Given the description of an element on the screen output the (x, y) to click on. 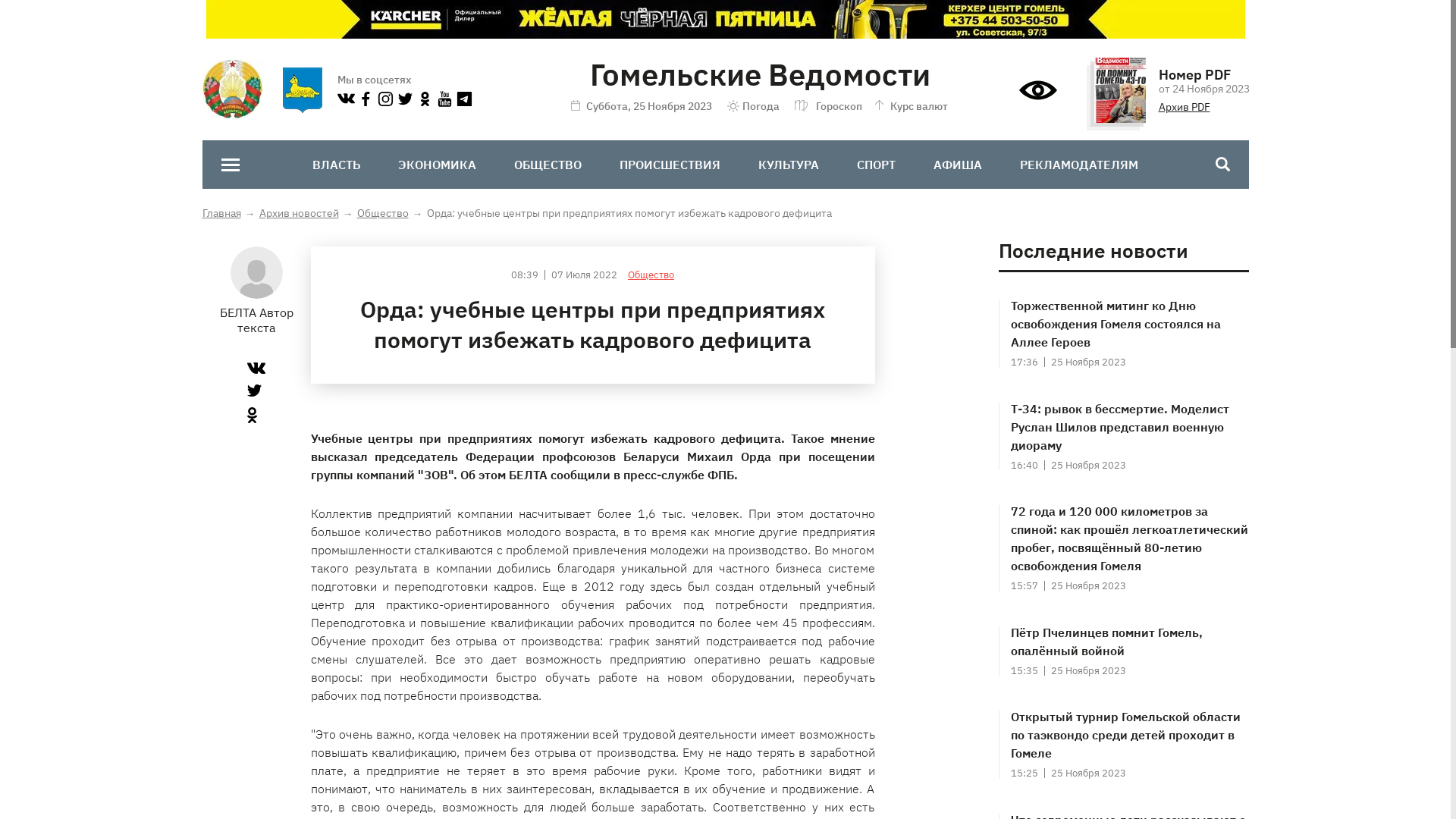
Twitter Element type: hover (254, 390)
